Given the description of an element on the screen output the (x, y) to click on. 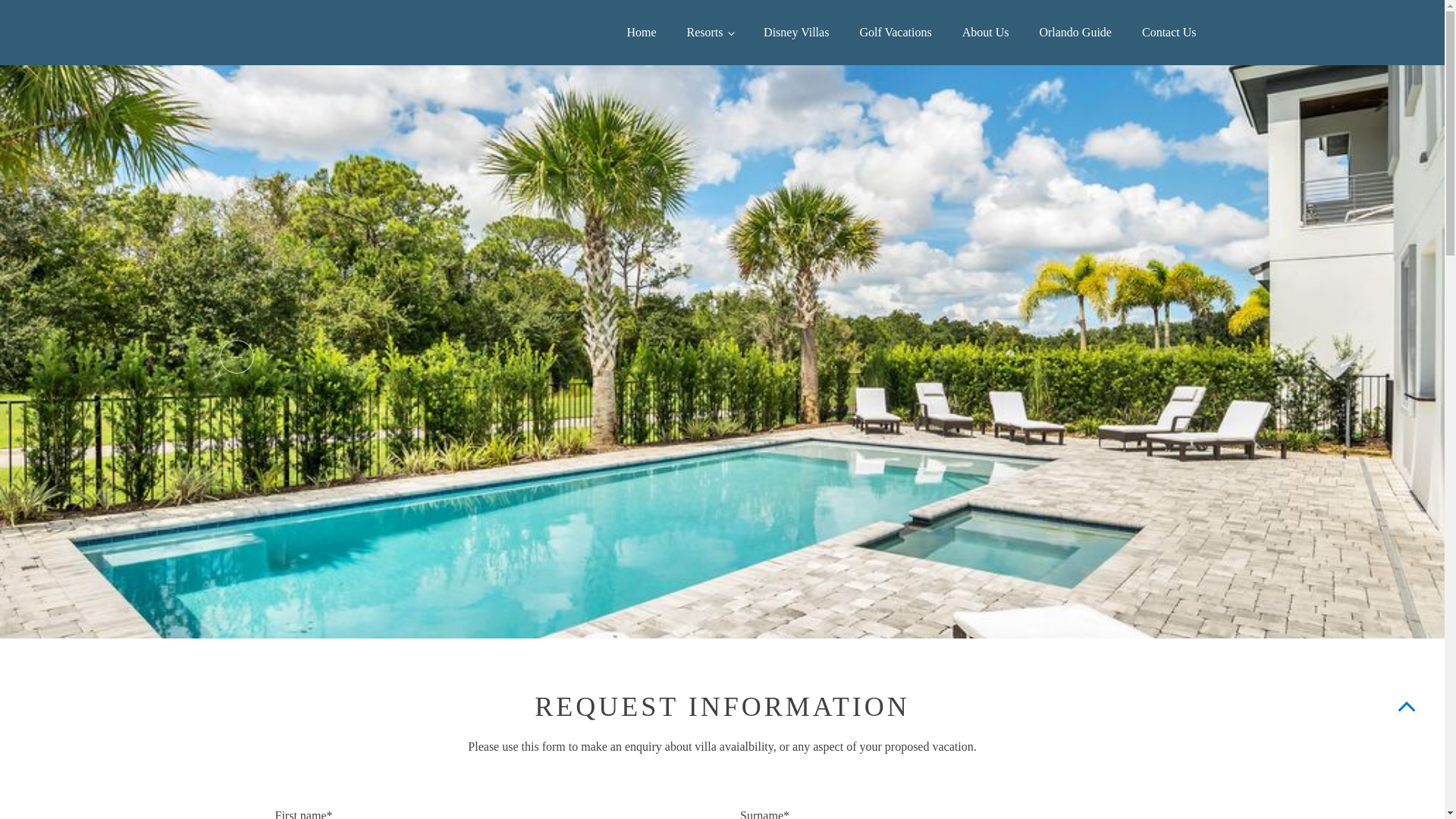
Next (1207, 356)
Golf Vacations (895, 32)
Disney Villas (796, 32)
Orlando Guide (1074, 32)
Home (641, 32)
Prev (236, 356)
Contact Us (1168, 32)
Resorts (710, 32)
About Us (986, 32)
